Given the description of an element on the screen output the (x, y) to click on. 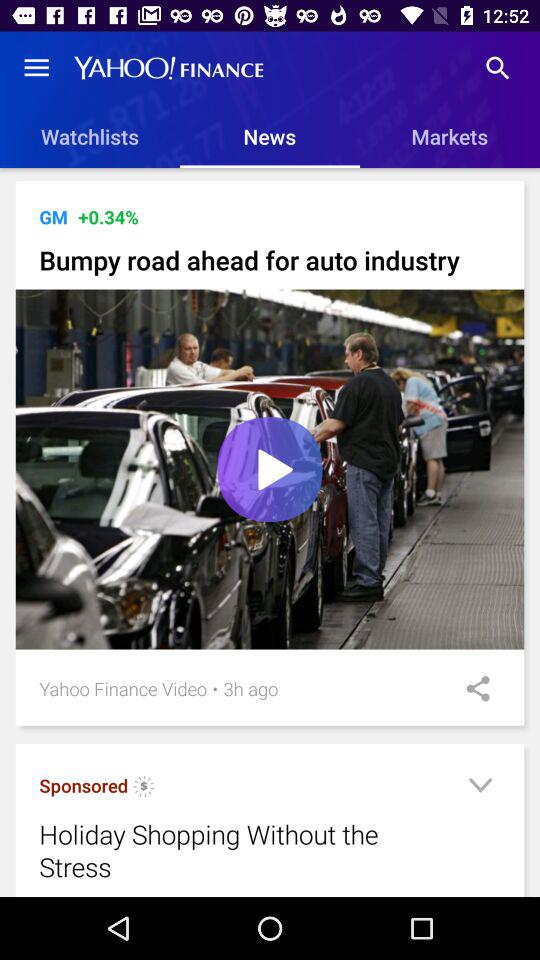
turn off the item below watchlists (273, 179)
